Given the description of an element on the screen output the (x, y) to click on. 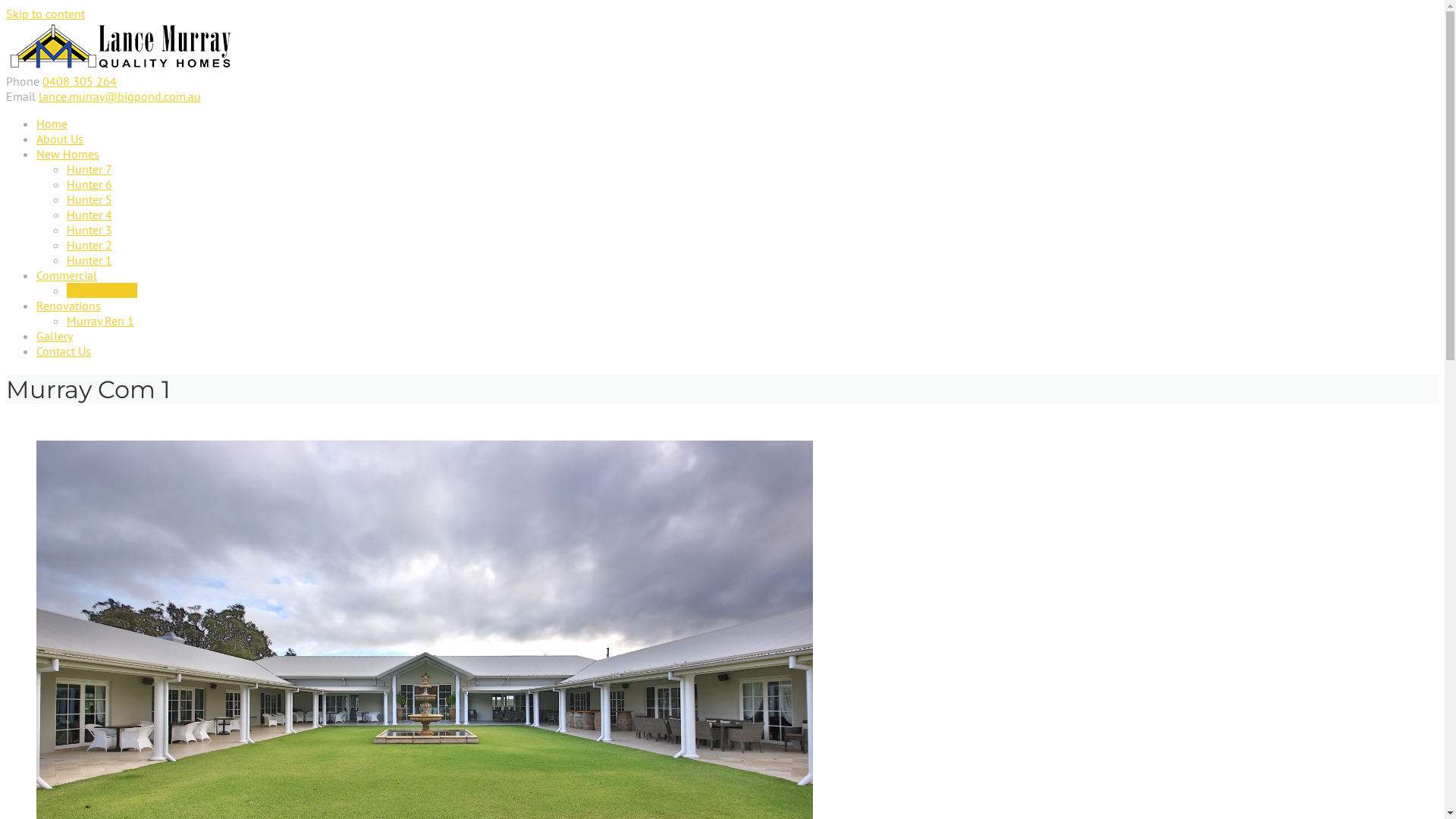
Gallery Element type: text (54, 335)
Hunter 4 Element type: text (89, 214)
Murray Ren 1 Element type: text (100, 320)
Hunter 5 Element type: text (89, 199)
Home Element type: text (51, 123)
lance.murray@bigpond.com.au Element type: text (119, 95)
Renovations Element type: text (68, 305)
Commercial Element type: text (66, 274)
Contact Us Element type: text (63, 350)
Skip to content Element type: text (45, 13)
Hunter 2 Element type: text (89, 244)
Hunter 3 Element type: text (89, 229)
Lance Murray Quality Homes Element type: hover (119, 65)
Hunter 1 Element type: text (89, 259)
Hunter 7 Element type: text (89, 168)
New Homes Element type: text (67, 153)
About Us Element type: text (59, 138)
Murray Com 1 Element type: text (101, 290)
Hunter 6 Element type: text (89, 183)
0408 305 264 Element type: text (79, 80)
